Given the description of an element on the screen output the (x, y) to click on. 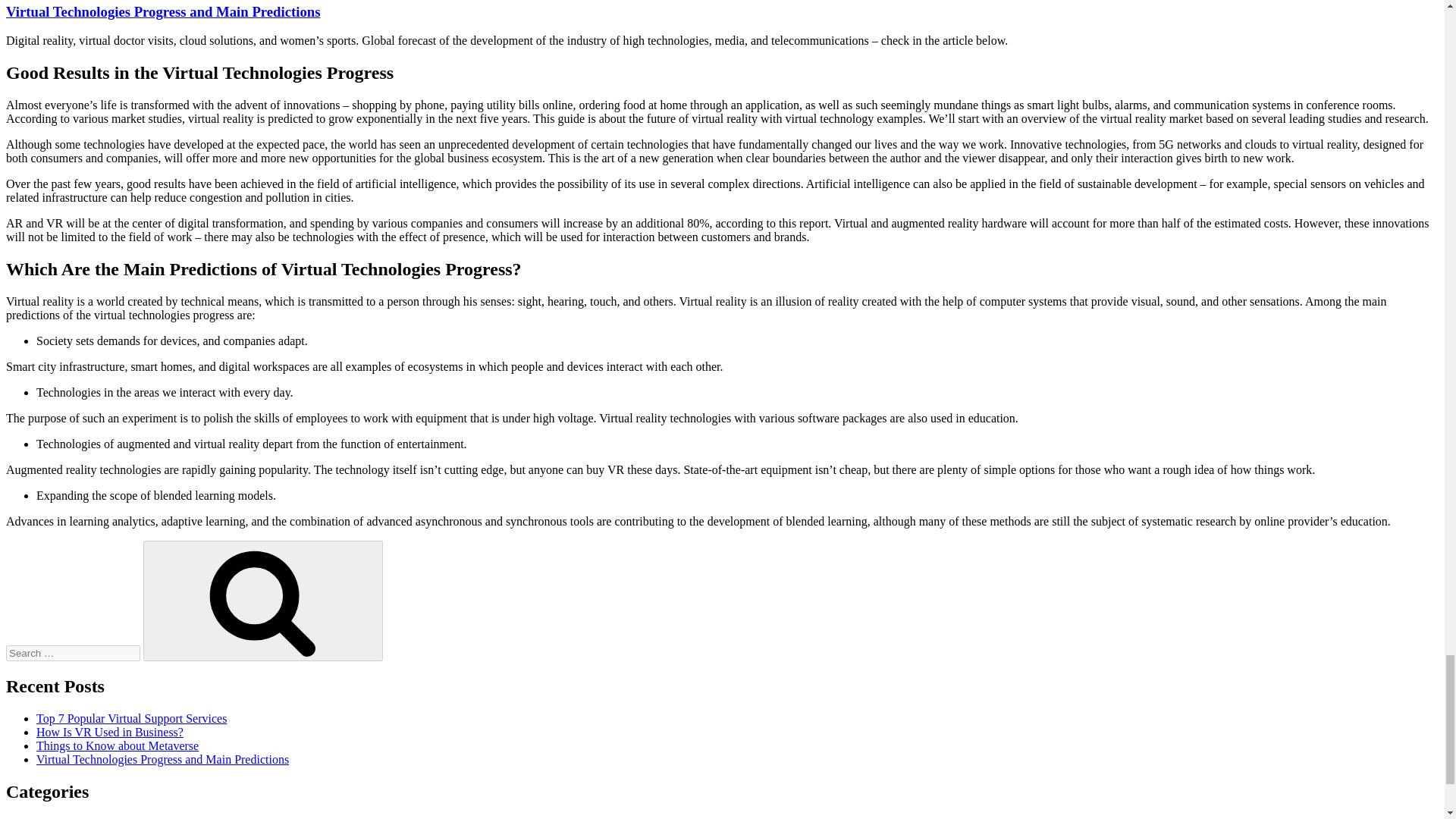
Blog (47, 818)
Things to Know about Metaverse (117, 745)
Search (262, 600)
Virtual Technologies Progress and Main Predictions (162, 11)
Virtual Technologies Progress and Main Predictions (162, 758)
Top 7 Popular Virtual Support Services (131, 717)
How Is VR Used in Business? (109, 731)
